Given the description of an element on the screen output the (x, y) to click on. 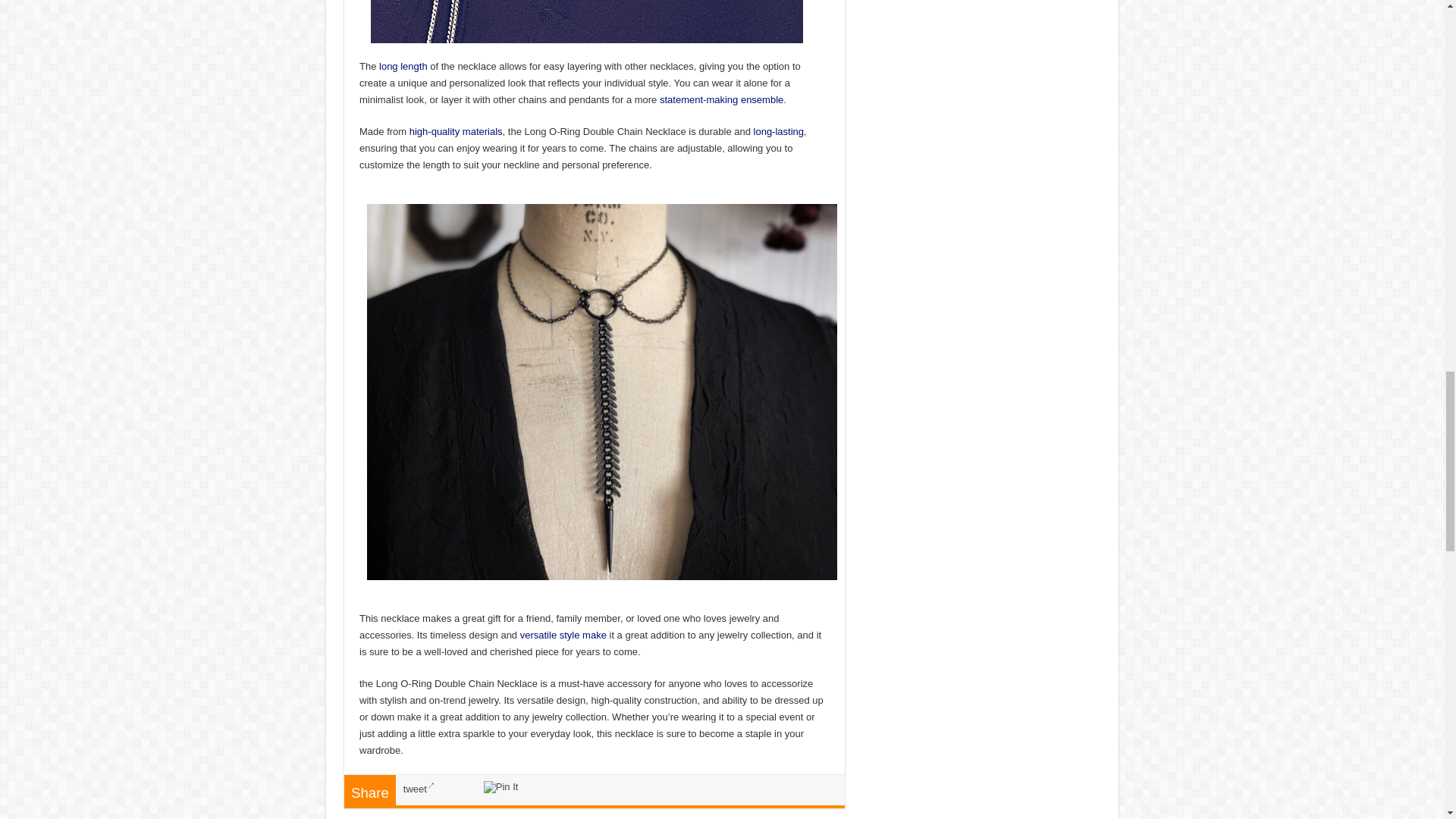
Versatile Style: The Long O-Ring Double Chain Necklace (587, 21)
long length (403, 66)
Flaunt Your Figure: The Best Cut Out Swimsuits for Summer (455, 131)
Pin It (500, 787)
statement-making ensemble (721, 99)
high-quality materials (455, 131)
tweet (419, 788)
Stylish Ways to Wear Cargo Vests (721, 99)
versatile style make (563, 634)
Elevate Your Winter Wardrobe with Stylish Camel Coat Outfits (563, 634)
Stylish and Versatile Long O-Ring Double Chain Necklace (601, 390)
long-lasting (779, 131)
Dazzling Designs: Creative Acrylic Nail Inspiration (779, 131)
Styling Tips for Fall Outfits with Long-Line Blazers (403, 66)
